Given the description of an element on the screen output the (x, y) to click on. 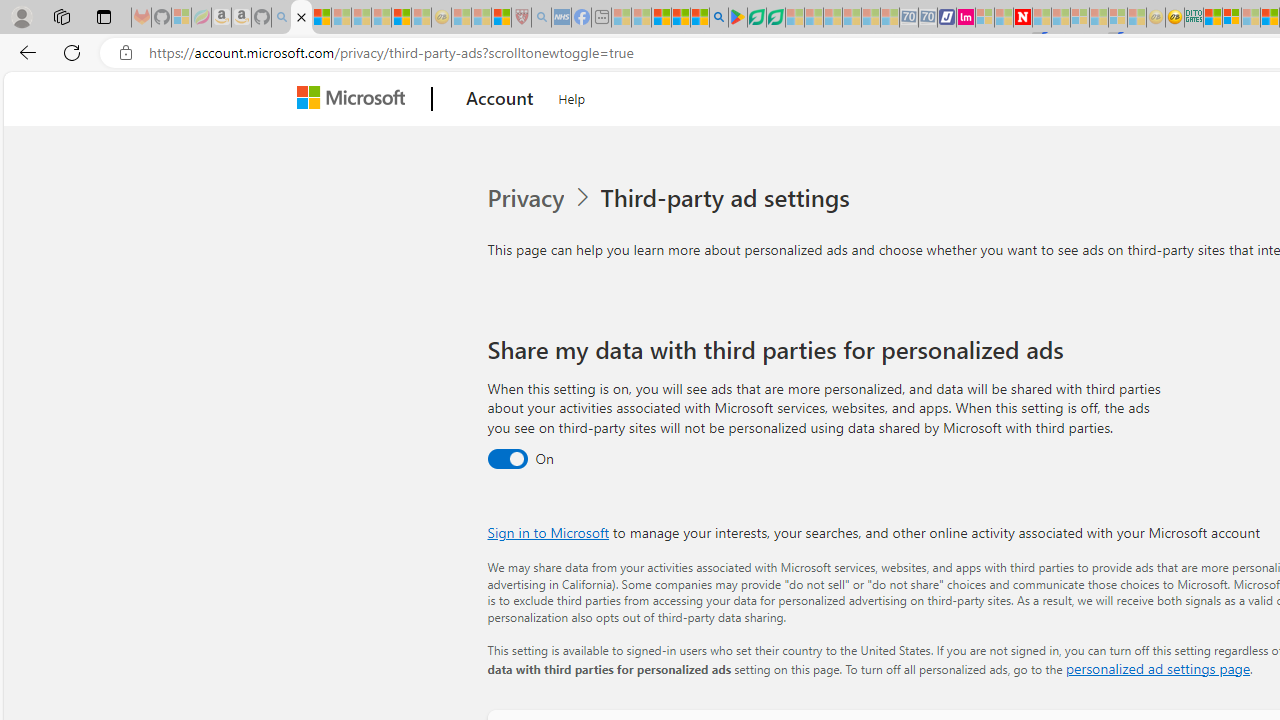
Pets - MSN (680, 17)
Local - MSN (500, 17)
Third party data sharing toggle (506, 459)
